Given the description of an element on the screen output the (x, y) to click on. 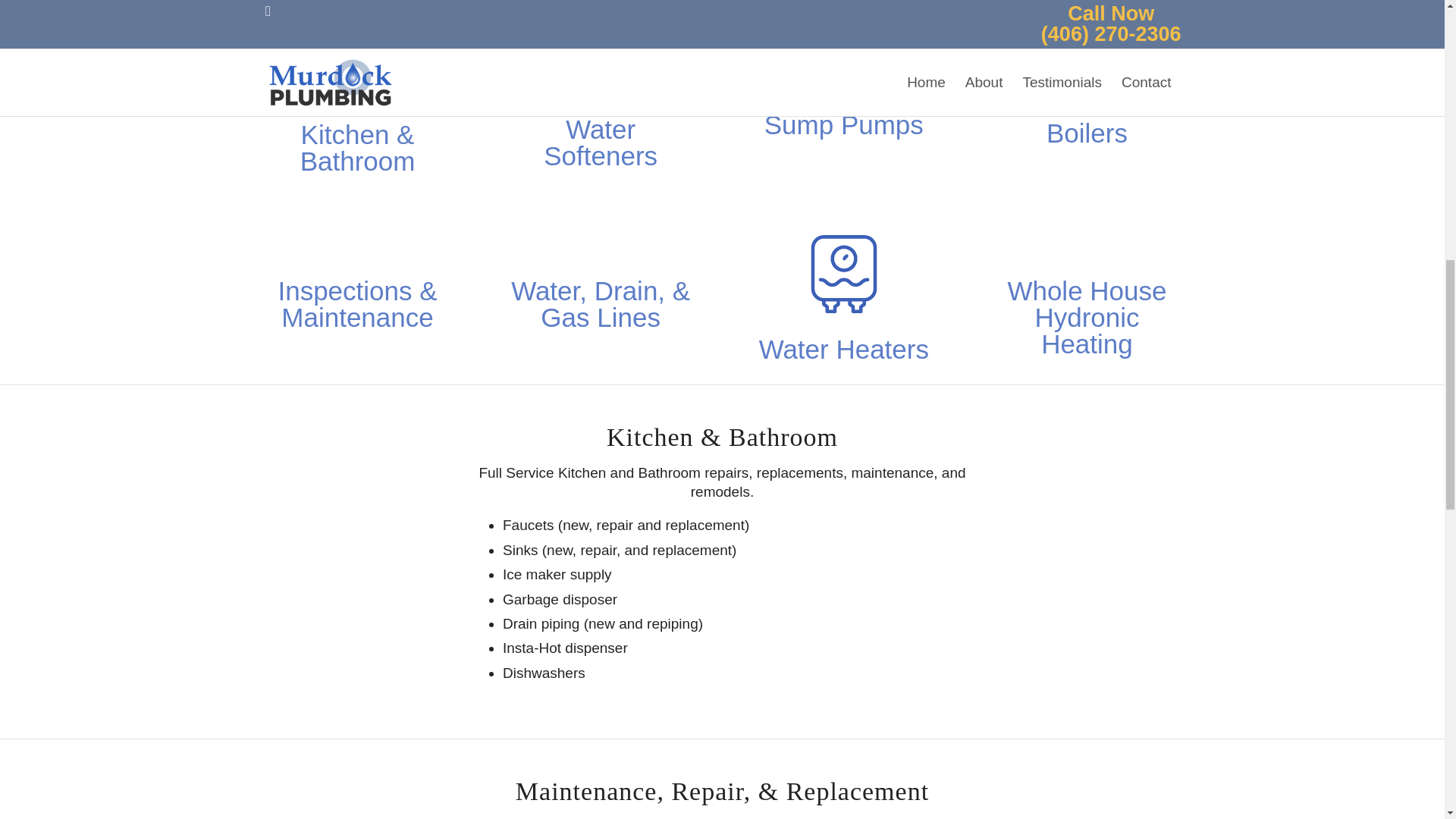
Asset 9 (357, 57)
Asset 12 (600, 54)
Asset 10 (844, 52)
